Given the description of an element on the screen output the (x, y) to click on. 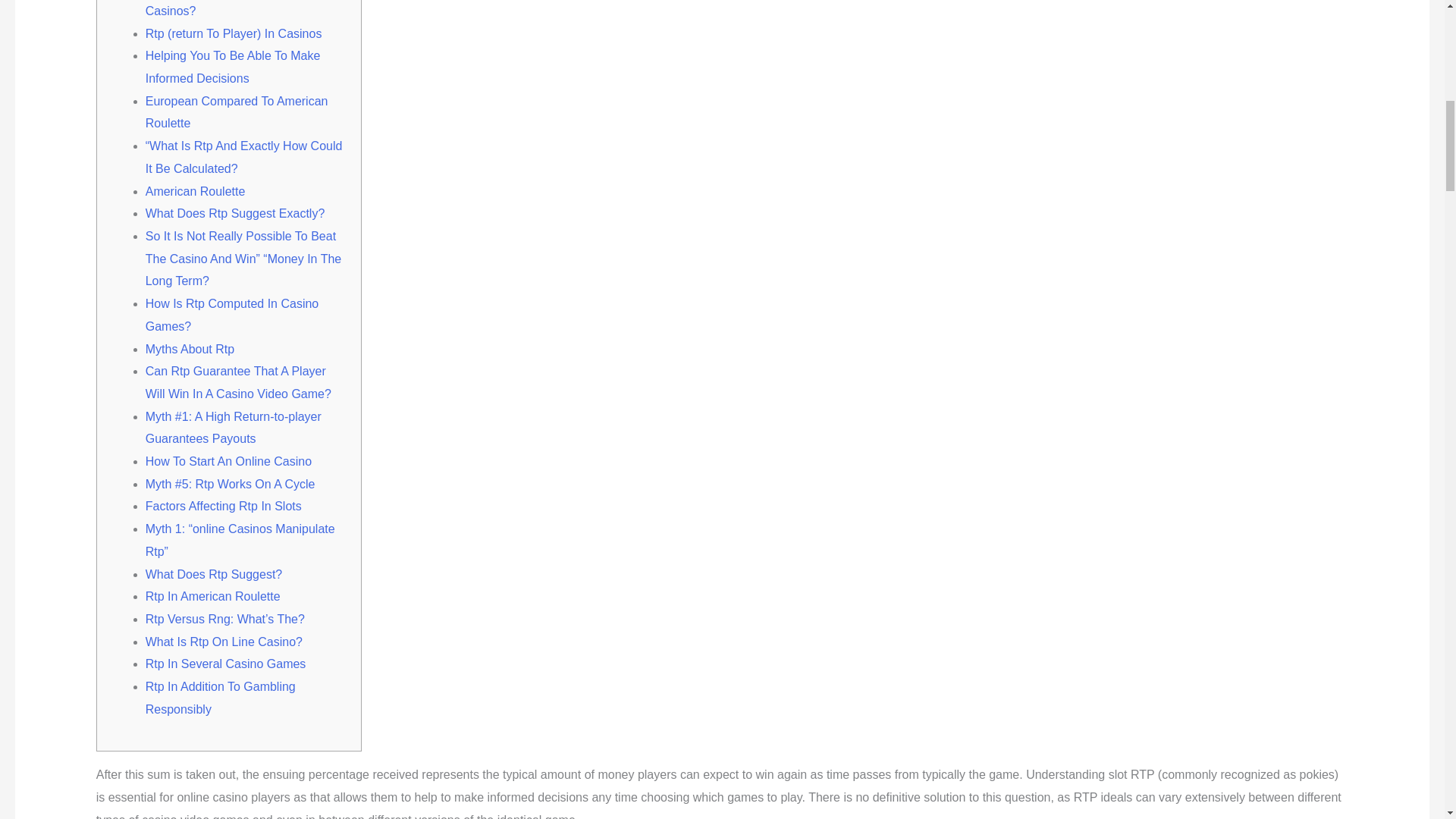
Helping You To Be Able To Make Informed Decisions (232, 67)
Myths About Rtp (189, 349)
How Is Rtp Computed In Casino Games? (231, 314)
American Roulette (195, 191)
What Does Rtp Suggest Exactly? (234, 213)
European Compared To American Roulette (237, 112)
